Given the description of an element on the screen output the (x, y) to click on. 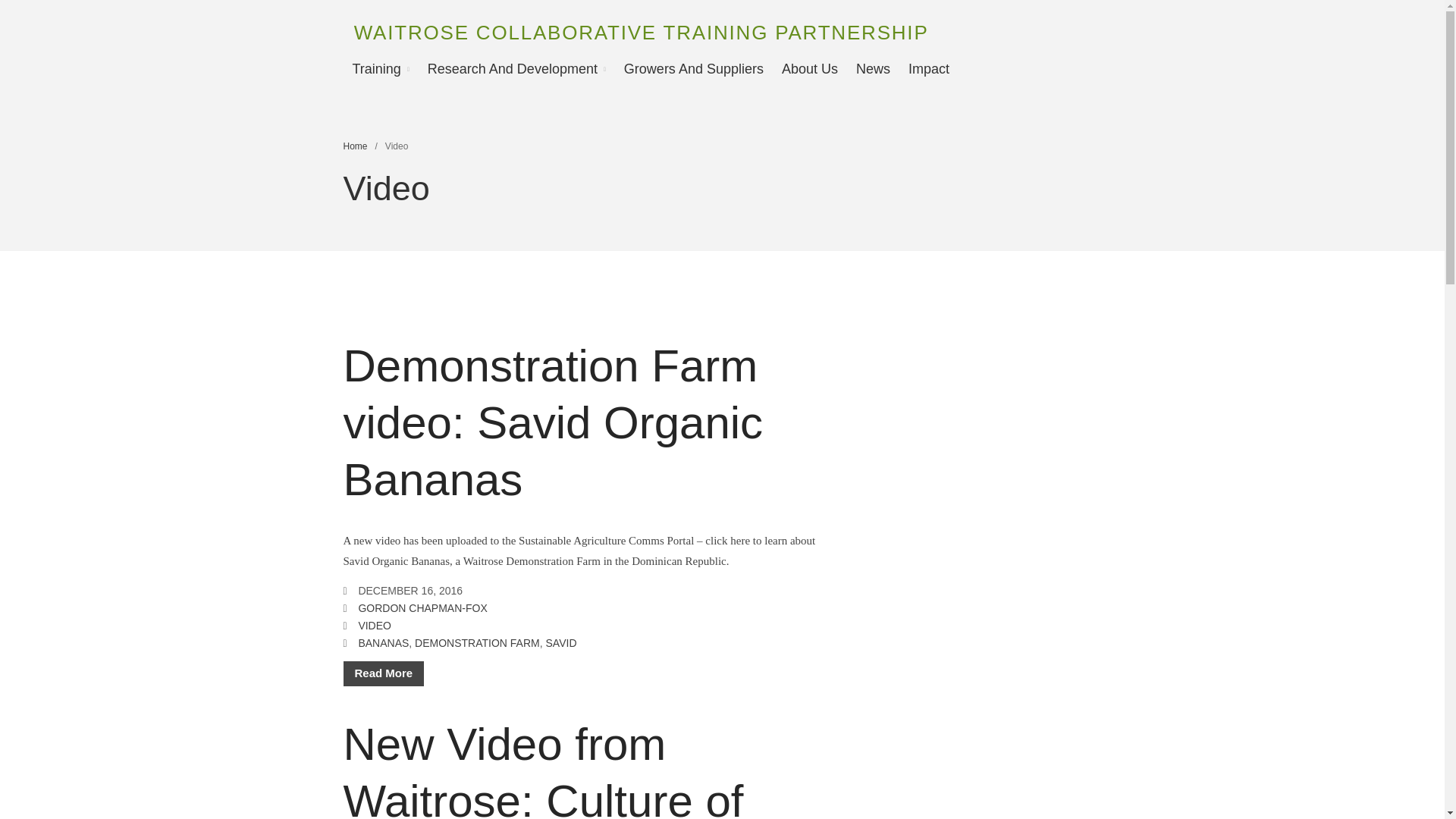
Training (379, 69)
Search (1356, 417)
View all posts tagged bananas (383, 643)
View all posts in Video (374, 625)
View all posts tagged Savid (561, 643)
View all posts tagged Demonstration Farm (477, 643)
View all posts by Gordon Chapman-Fox (422, 607)
